Given the description of an element on the screen output the (x, y) to click on. 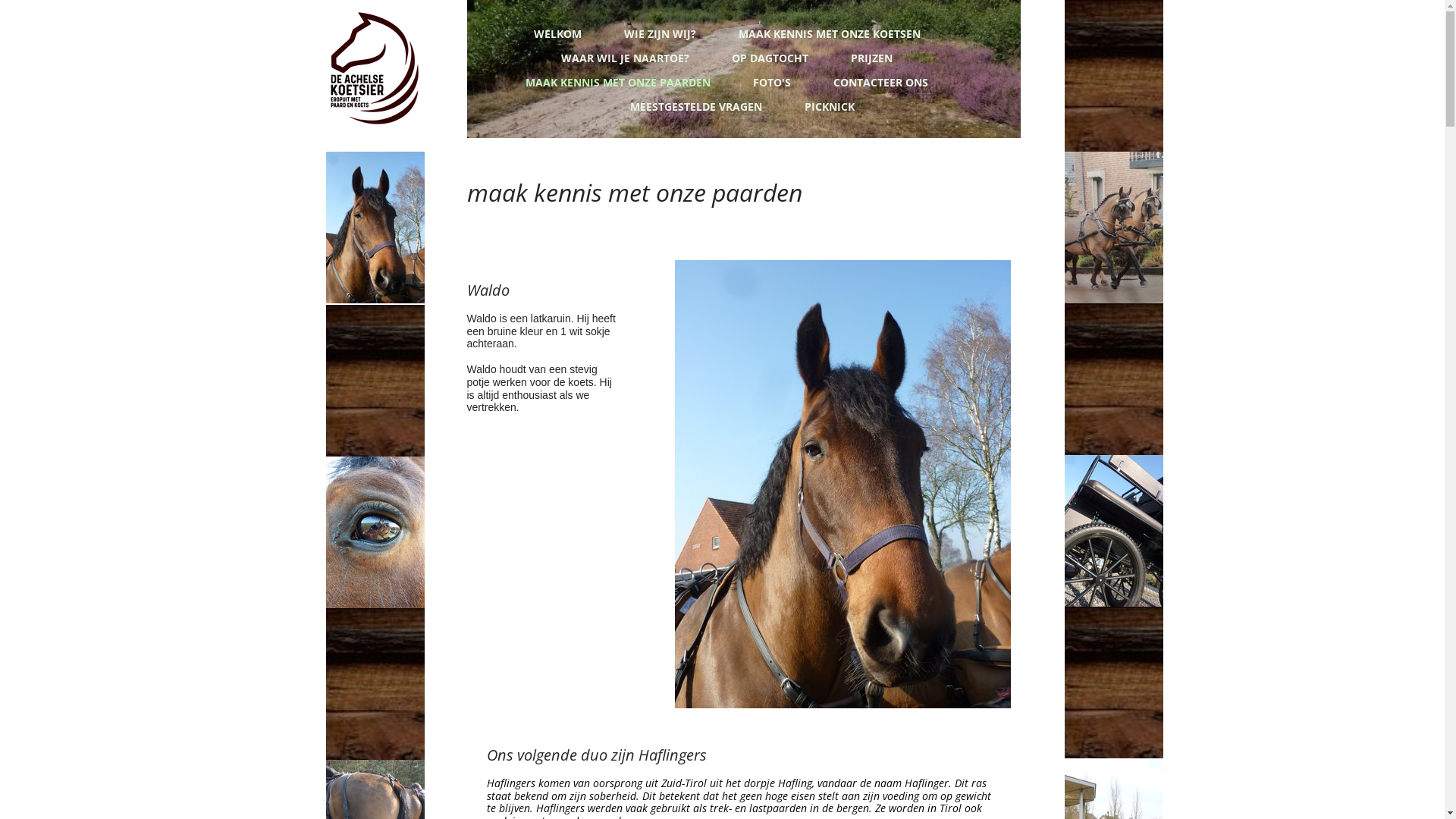
MAAK KENNIS MET ONZE PAARDEN Element type: text (619, 81)
PRIJZEN Element type: text (873, 56)
WELKOM Element type: text (559, 32)
WAAR WIL JE NAARTOE? Element type: text (626, 56)
FOTO'S Element type: text (773, 81)
WIE ZIJN WIJ? Element type: text (660, 32)
CONTACTEER ONS Element type: text (881, 81)
PICKNICK Element type: text (830, 105)
MAAK KENNIS MET ONZE KOETSEN Element type: text (831, 32)
OP DAGTOCHT Element type: text (771, 56)
MEESTGESTELDE VRAGEN Element type: text (696, 105)
Hafling Element type: text (795, 782)
Zuid-Tirol Element type: text (683, 782)
